Given the description of an element on the screen output the (x, y) to click on. 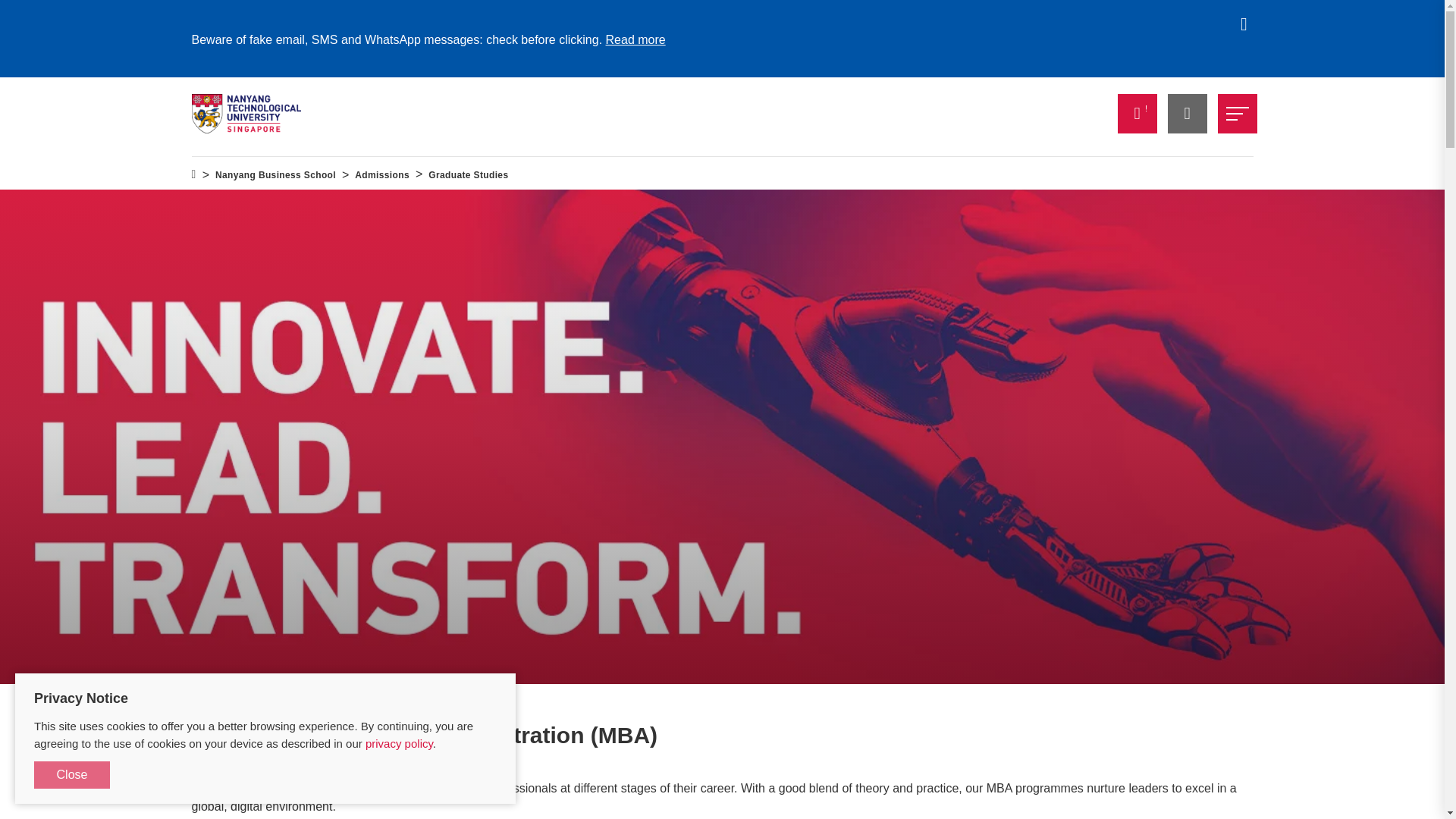
Close (71, 774)
Admissions (382, 175)
Read more (635, 39)
Nanyang Business School (275, 175)
privacy policy (398, 743)
Nanyang Technological University (245, 113)
